Given the description of an element on the screen output the (x, y) to click on. 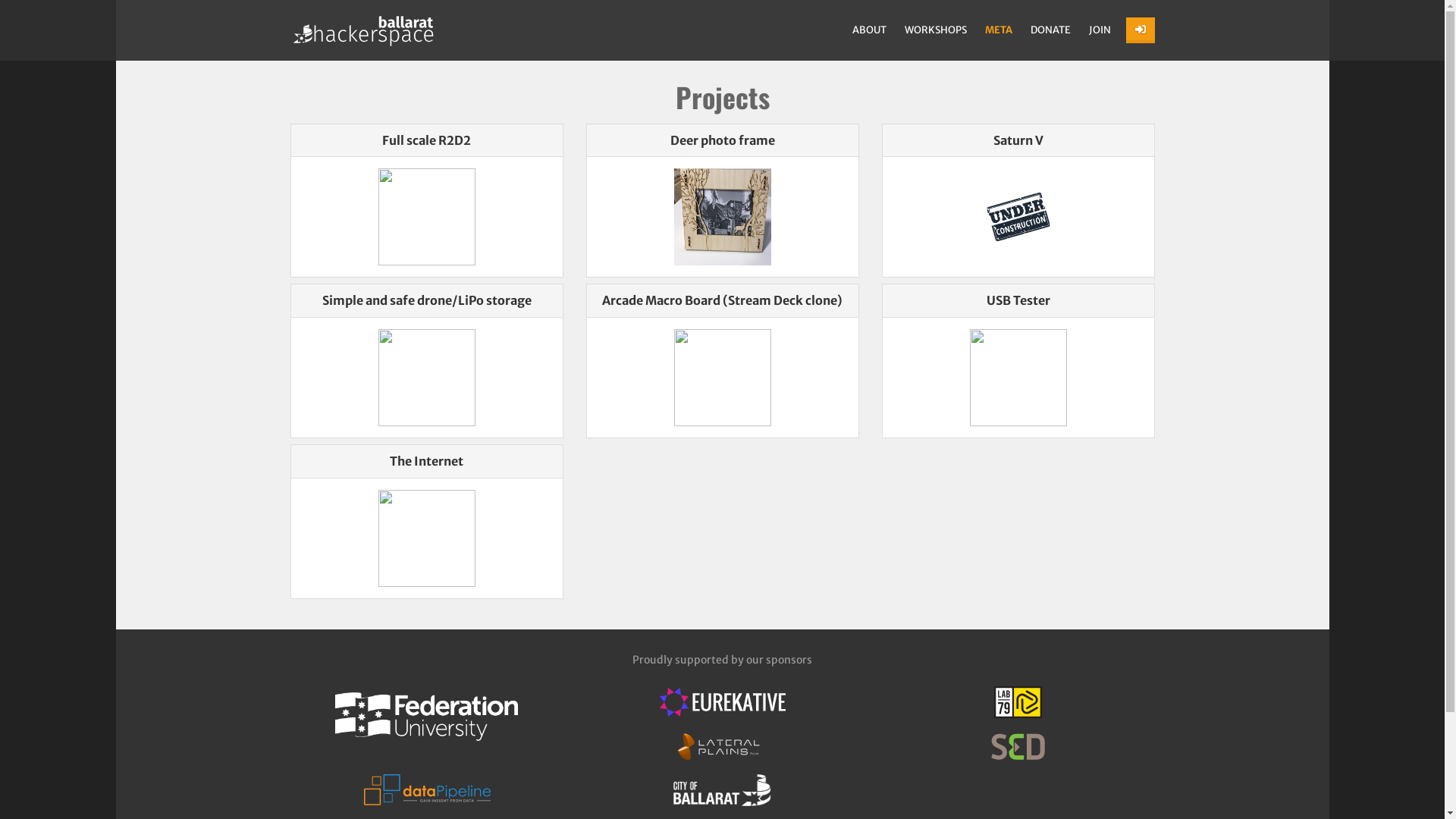
ABOUT Element type: text (869, 30)
USB Tester Element type: text (1017, 299)
Full scale R2D2 Element type: text (426, 139)
Simple and safe drone/LiPo storage Element type: text (425, 299)
Saturn V Element type: text (1018, 139)
Deer photo frame Element type: text (722, 139)
DONATE Element type: text (1049, 30)
WORKSHOPS Element type: text (934, 30)
The Internet Element type: text (426, 460)
Arcade Macro Board (Stream Deck clone) Element type: text (722, 299)
META Element type: text (997, 30)
JOIN Element type: text (1099, 30)
